Given the description of an element on the screen output the (x, y) to click on. 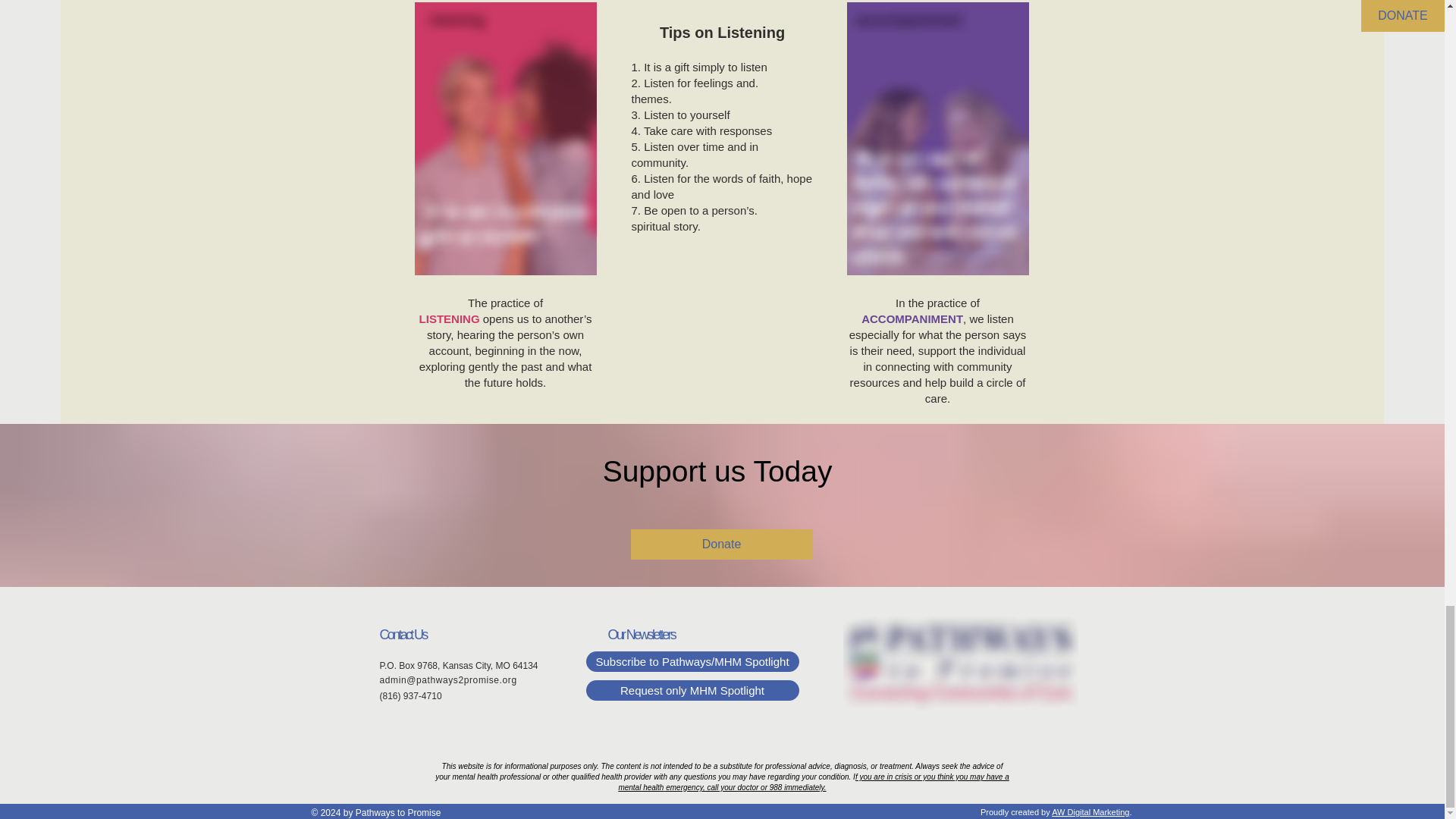
Request only MHM Spotlight (691, 690)
AW Digital Marketing (1090, 811)
Donate (721, 544)
